Given the description of an element on the screen output the (x, y) to click on. 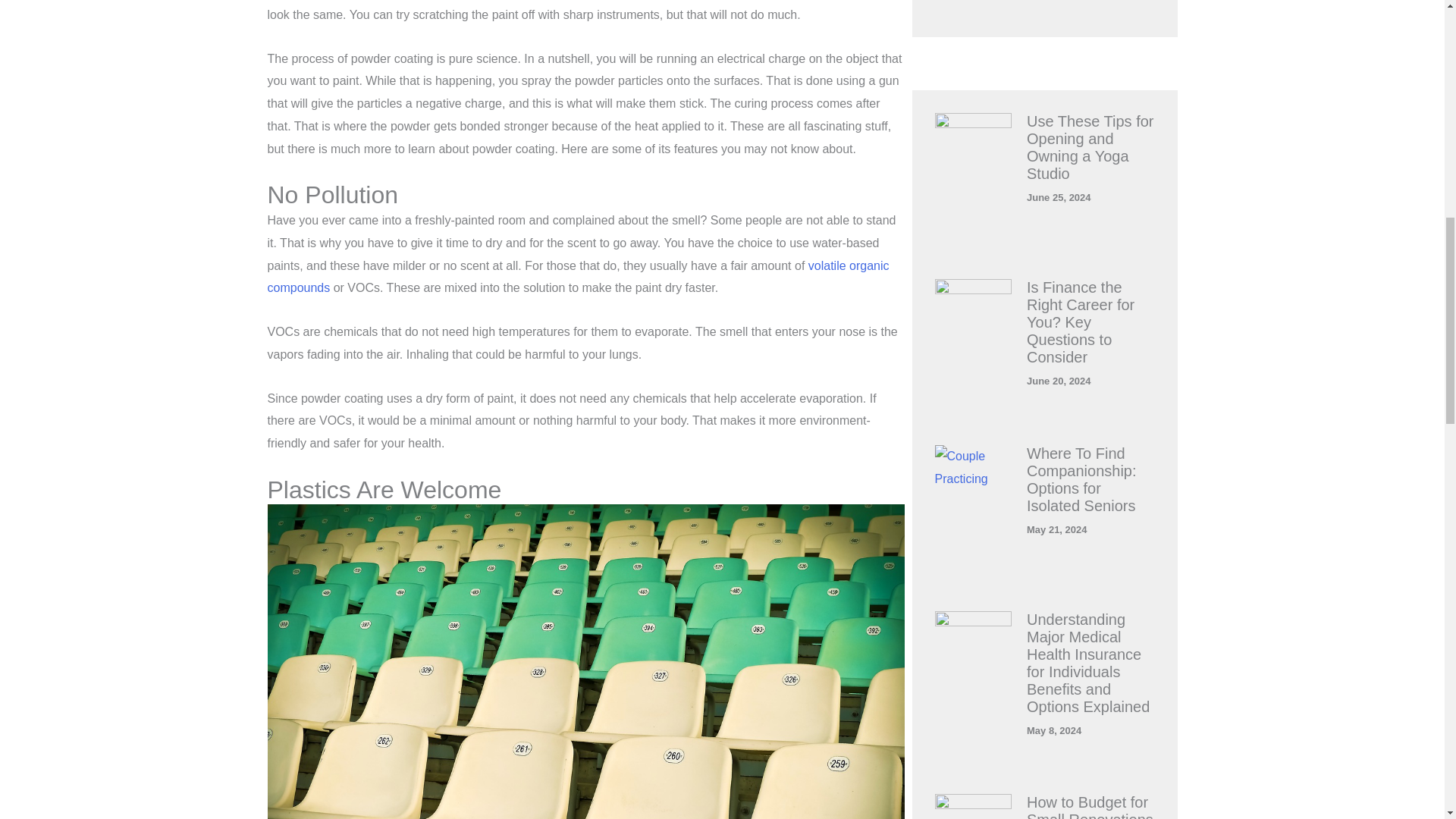
Where To Find Companionship: Options for Isolated Seniors (1081, 479)
Use These Tips for Opening and Owning a Yoga Studio (1089, 147)
How to Budget for Small Renovations and Common Home Upgrades (1089, 806)
volatile organic compounds (577, 276)
